Given the description of an element on the screen output the (x, y) to click on. 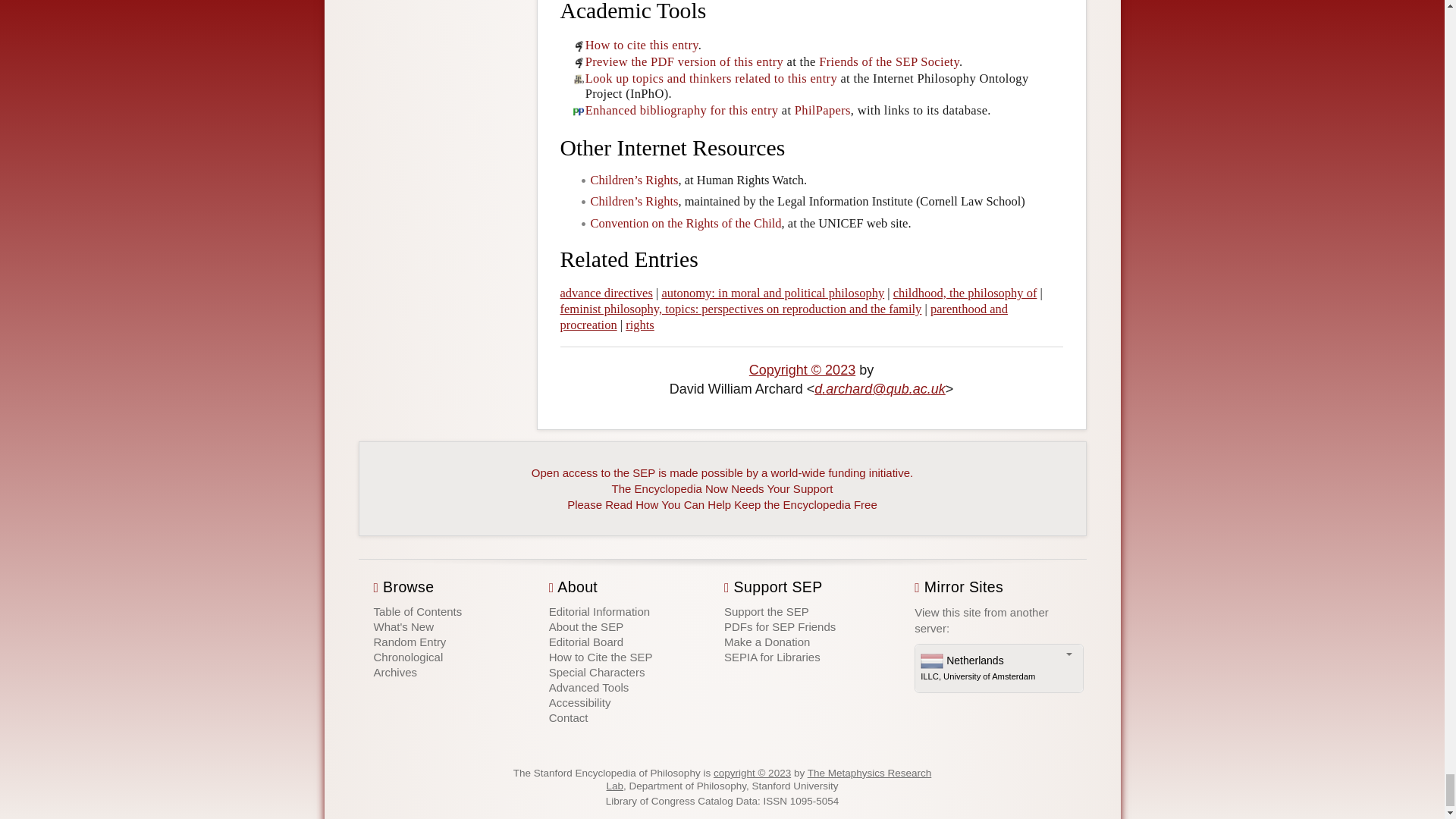
 at  (878, 388)
